Given the description of an element on the screen output the (x, y) to click on. 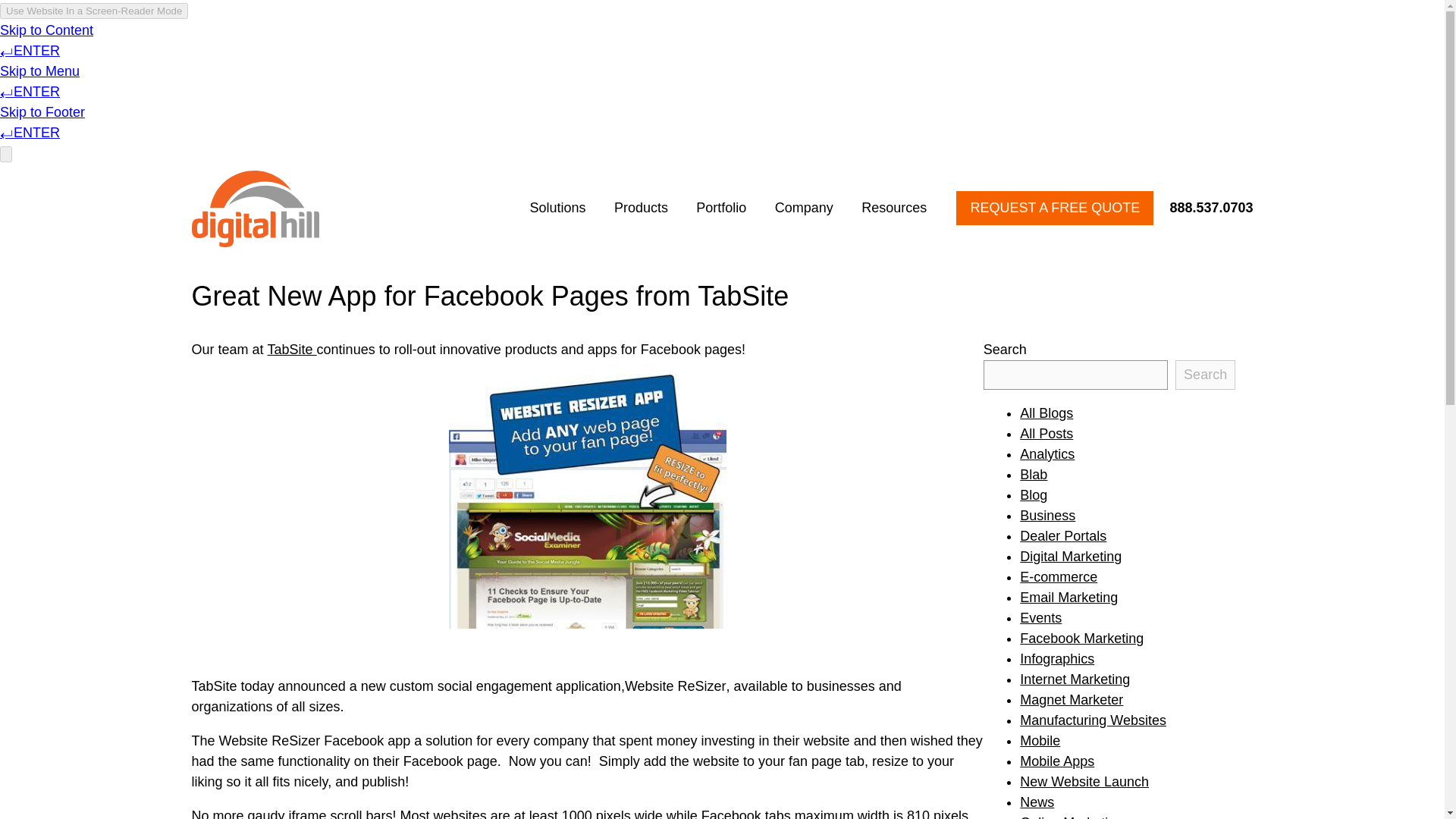
All Blogs (1046, 412)
Manufacturing Websites (1093, 720)
All Posts (1046, 433)
888.537.0703 (1204, 207)
News (1037, 801)
Dealer Portals (1063, 535)
Blab (1033, 474)
Facebook Marketing (1081, 638)
Company (803, 207)
Events (1040, 617)
